Given the description of an element on the screen output the (x, y) to click on. 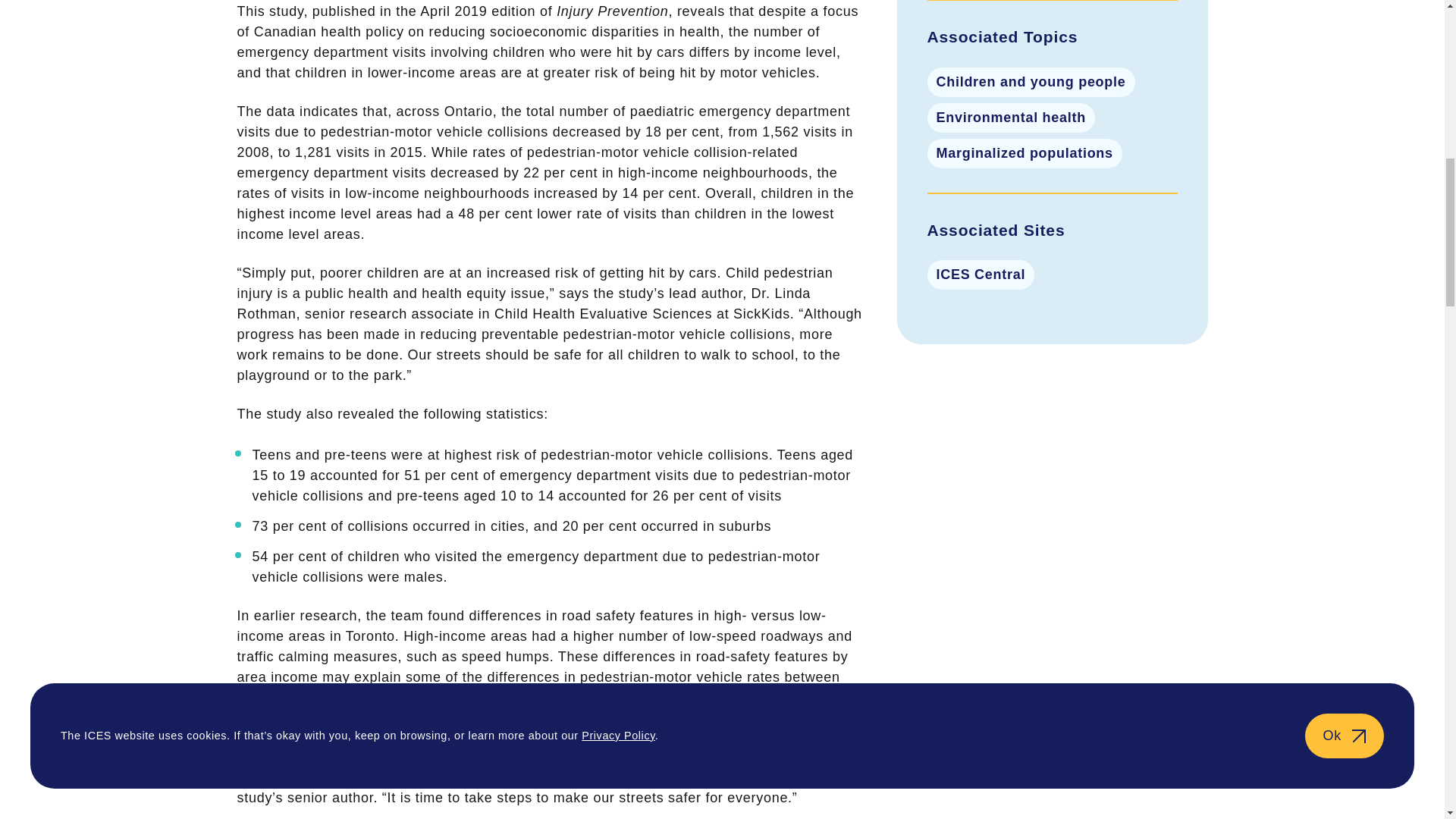
ICES Central (979, 274)
Children and young people (1030, 82)
Marginalized populations (1023, 153)
Environmental health (1010, 117)
